Given the description of an element on the screen output the (x, y) to click on. 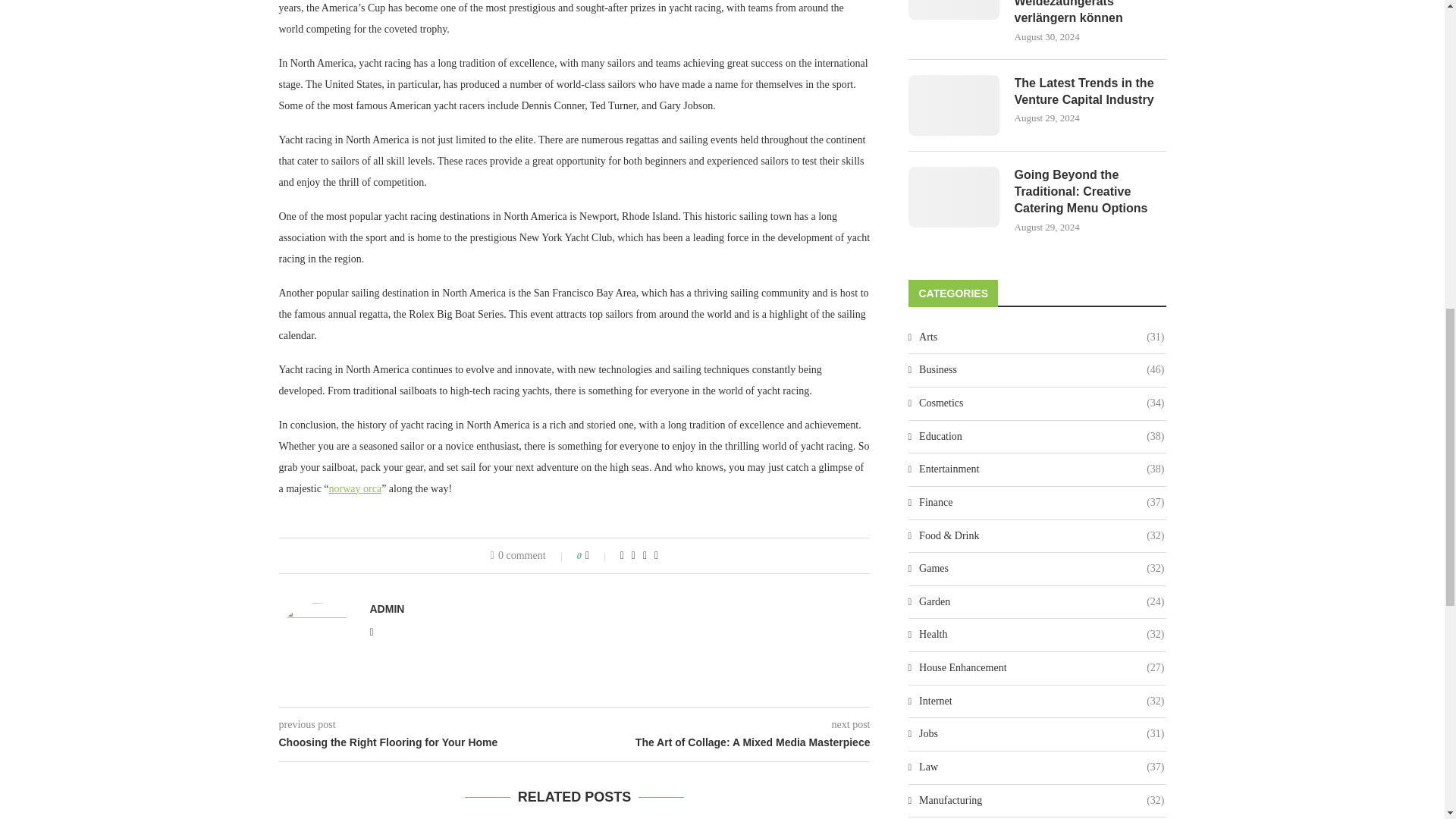
Author admin (386, 608)
ADMIN (386, 608)
Like (597, 555)
norway orca (355, 488)
